Given the description of an element on the screen output the (x, y) to click on. 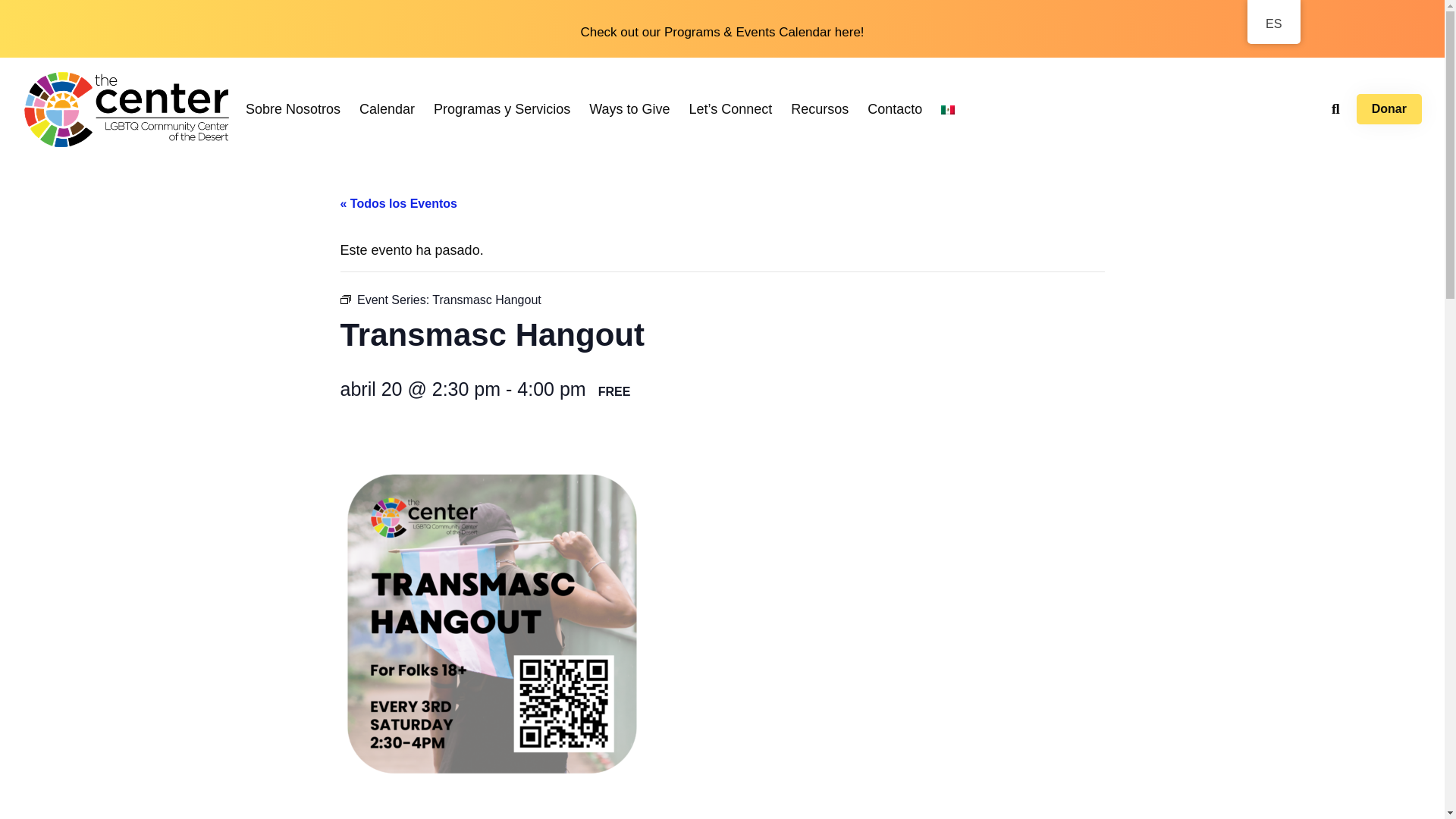
Contacto (894, 109)
Programas y Servicios (501, 109)
Event Series (344, 298)
Ways to Give (629, 109)
Recursos (819, 109)
Sobre Nosotros (293, 109)
Calendar (386, 109)
